Given the description of an element on the screen output the (x, y) to click on. 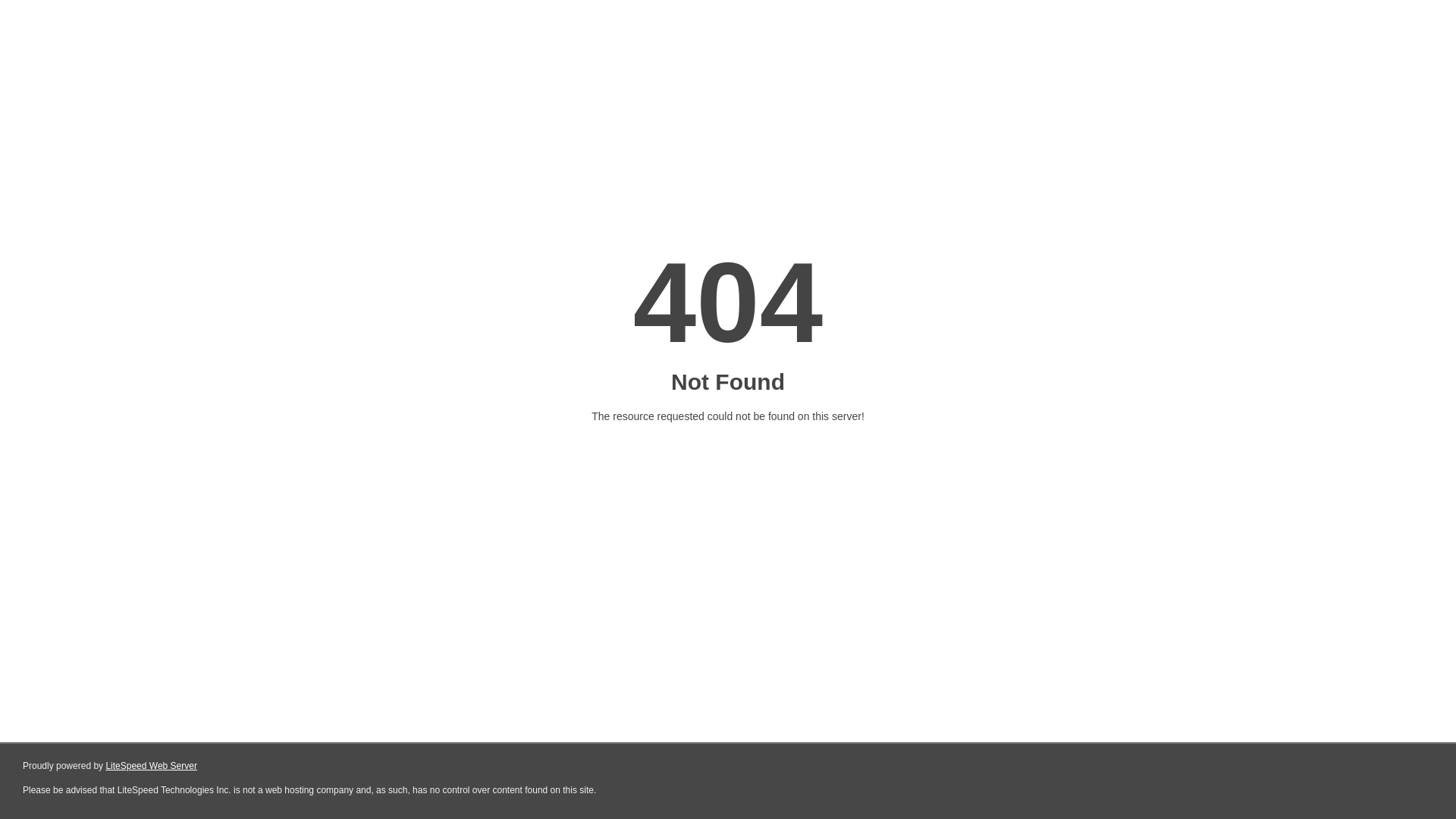
LiteSpeed Web Server Element type: text (151, 765)
